Given the description of an element on the screen output the (x, y) to click on. 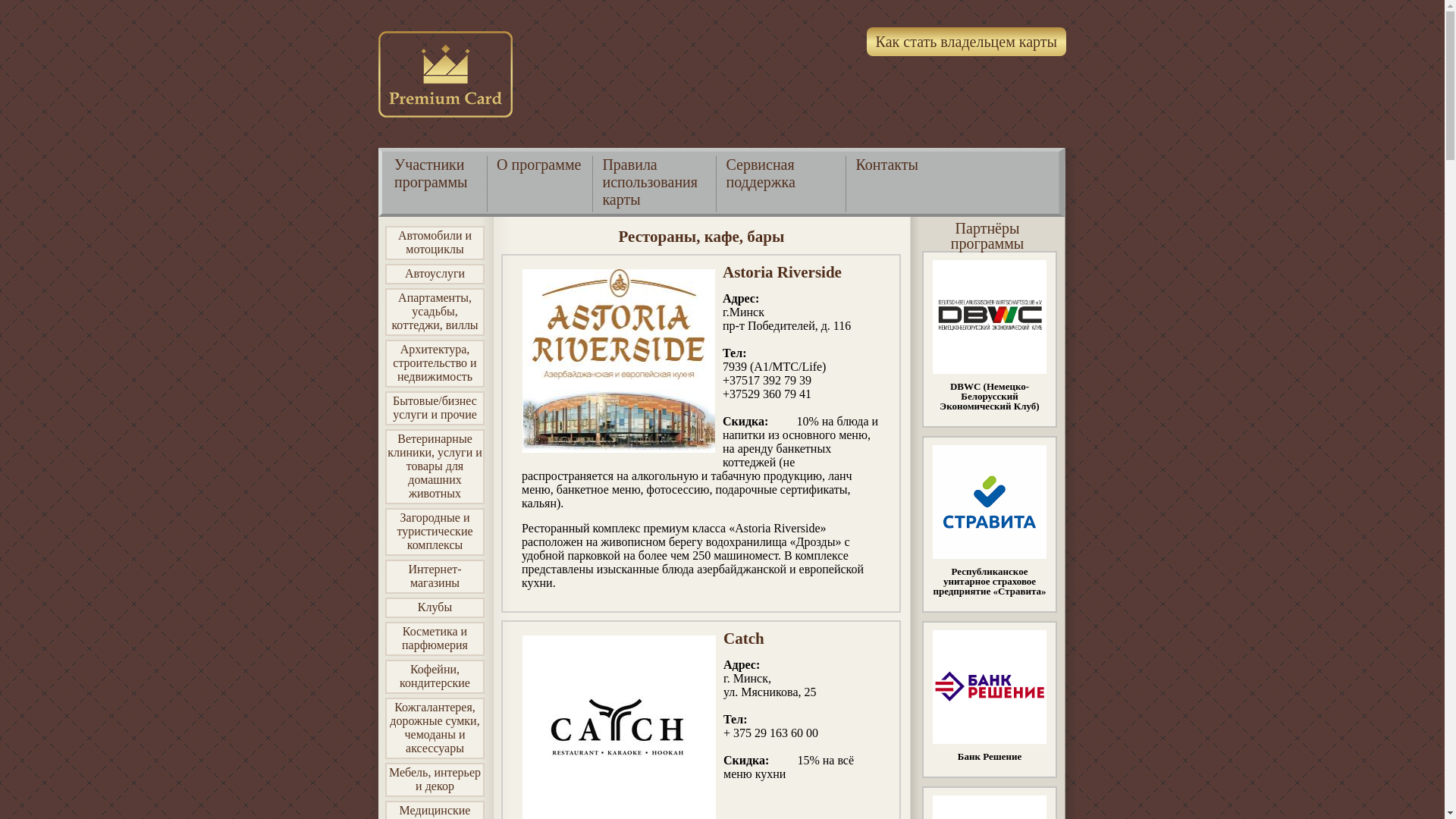
Catch Element type: text (743, 638)
Astoria Riverside Element type: text (781, 272)
